Given the description of an element on the screen output the (x, y) to click on. 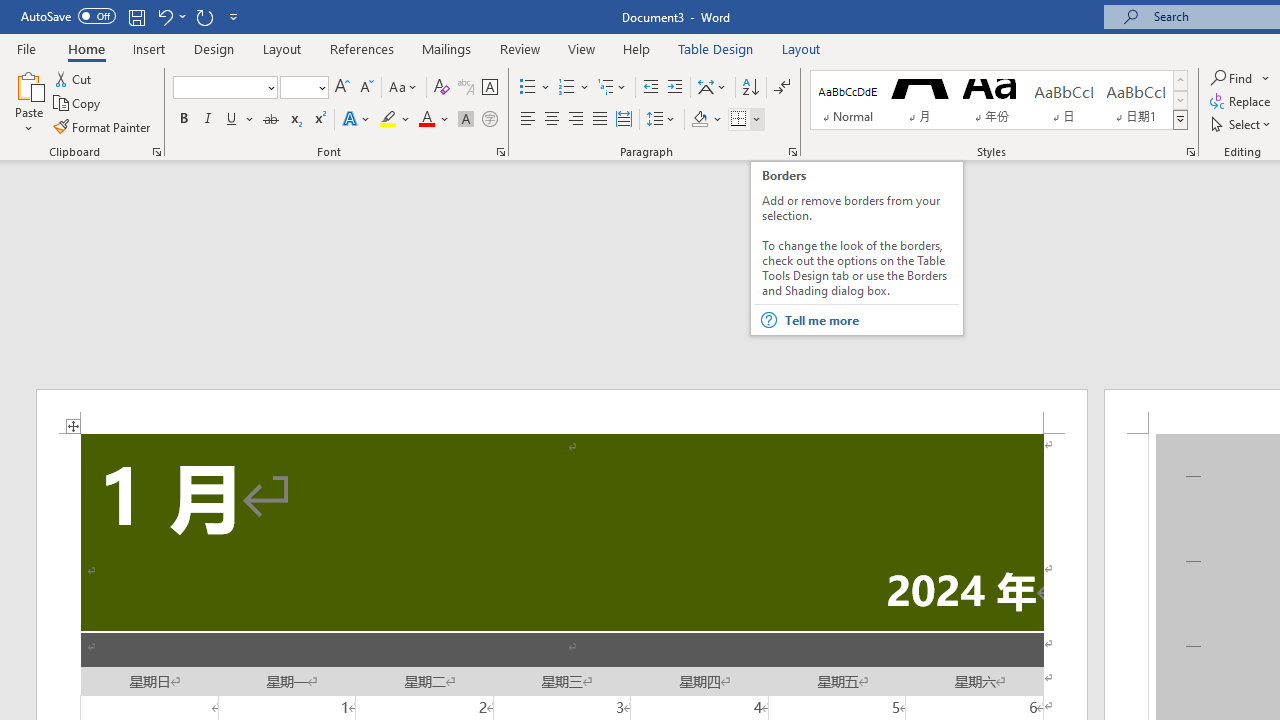
Font... (500, 151)
Italic (207, 119)
Line and Paragraph Spacing (661, 119)
